Given the description of an element on the screen output the (x, y) to click on. 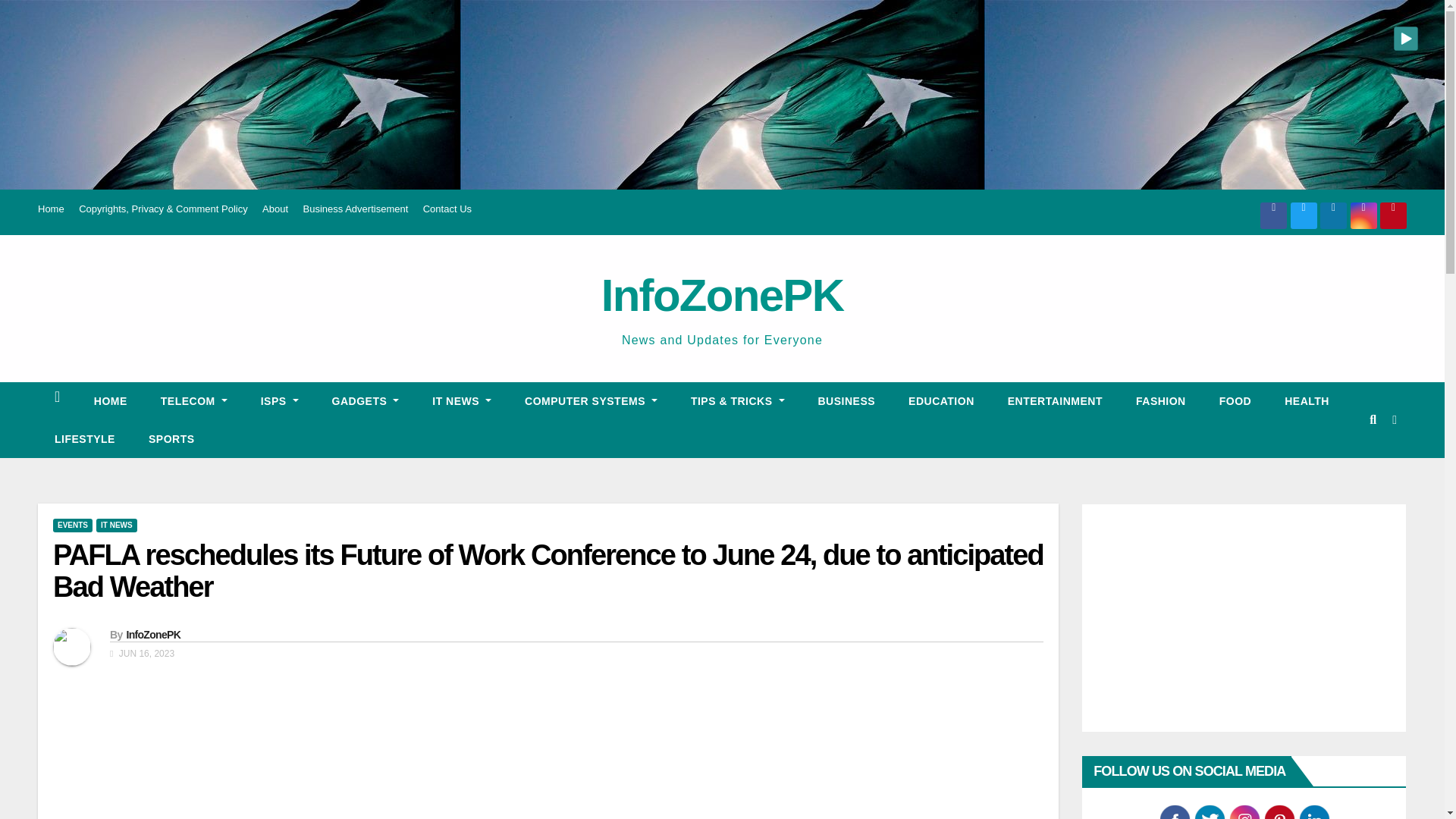
TELECOM (194, 401)
InfoZonePK (722, 295)
Contact Us (447, 208)
Home (50, 208)
Business Advertisement (355, 208)
HOME (110, 401)
Home (110, 401)
GADGETS (365, 401)
Telecom (194, 401)
